Given the description of an element on the screen output the (x, y) to click on. 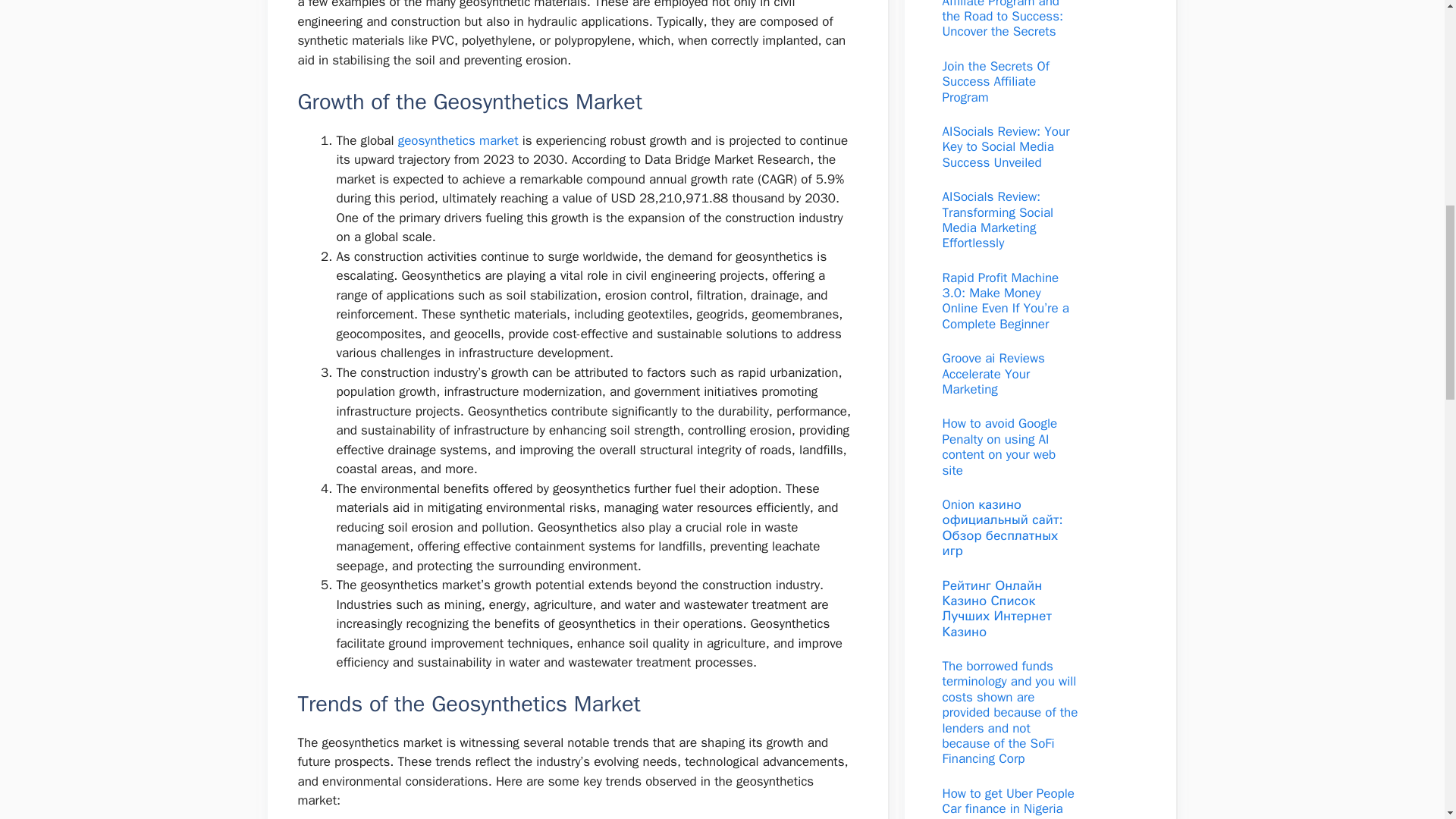
geosynthetics market (457, 140)
Groove ai Reviews Accelerate Your Marketing (992, 373)
Join the Secrets Of Success Affiliate Program (995, 81)
AISocials Review: Your Key to Social Media Success Unveiled (1005, 146)
How to get Uber People Car finance in Nigeria (1008, 800)
